Given the description of an element on the screen output the (x, y) to click on. 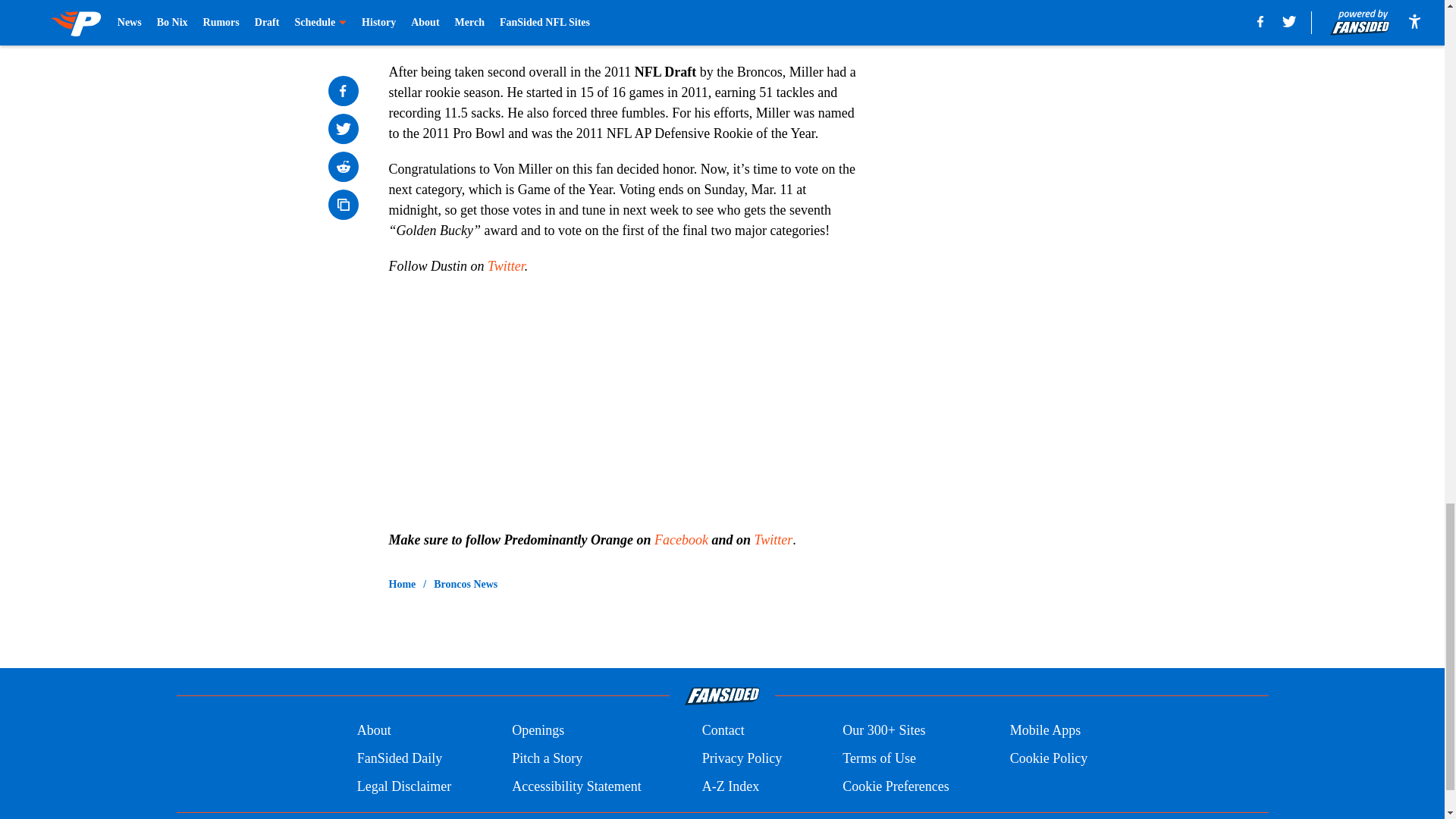
Mobile Apps (1045, 730)
Home (401, 584)
Legal Disclaimer (403, 786)
Twitter (773, 539)
Privacy Policy (742, 758)
Openings (538, 730)
Cookie Policy (1048, 758)
Contact (722, 730)
About (373, 730)
Terms of Use (879, 758)
